Given the description of an element on the screen output the (x, y) to click on. 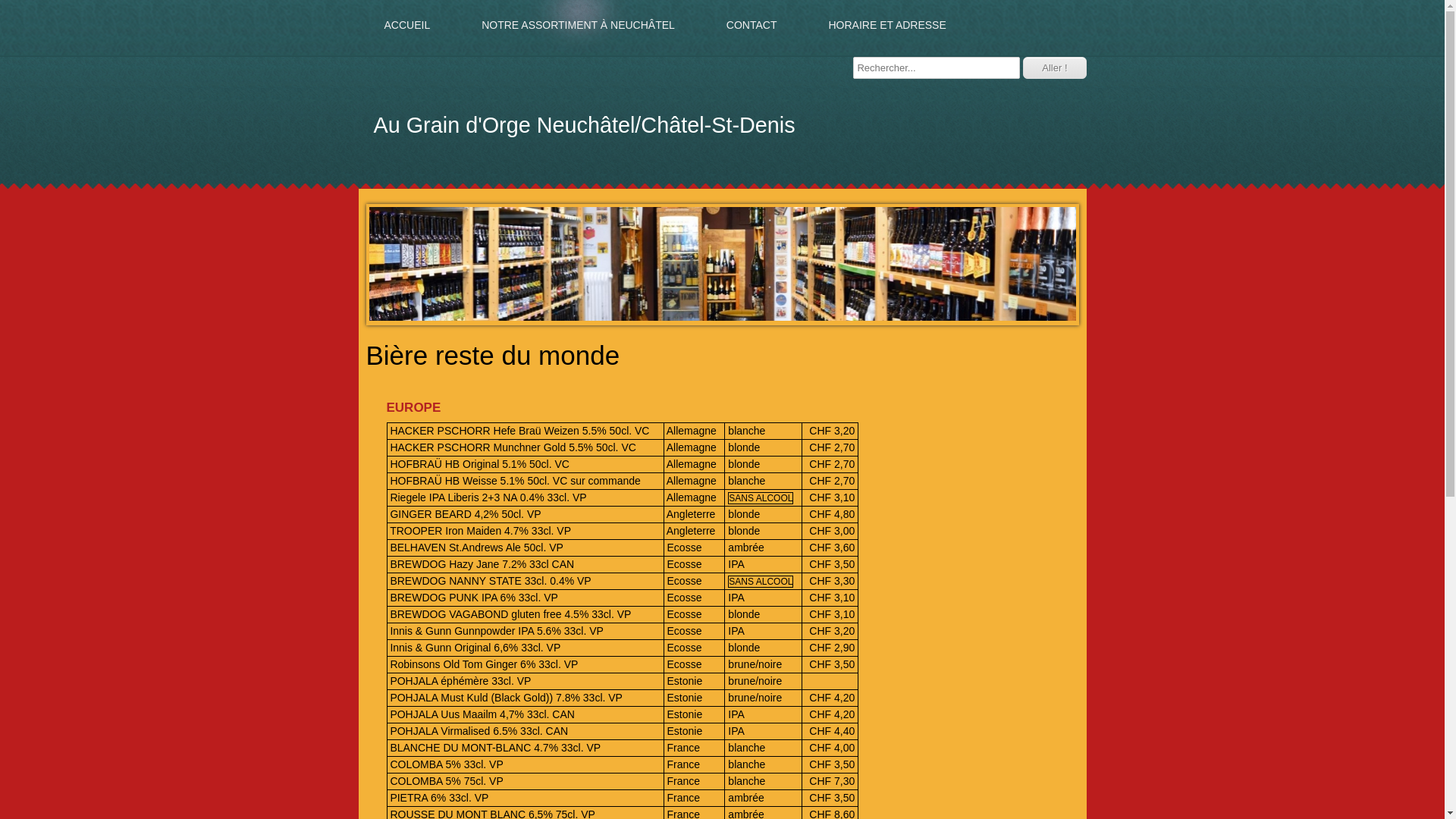
HORAIRE ET ADRESSE Element type: text (886, 27)
CONTACT Element type: text (751, 27)
ACCUEIL Element type: text (406, 27)
